Given the description of an element on the screen output the (x, y) to click on. 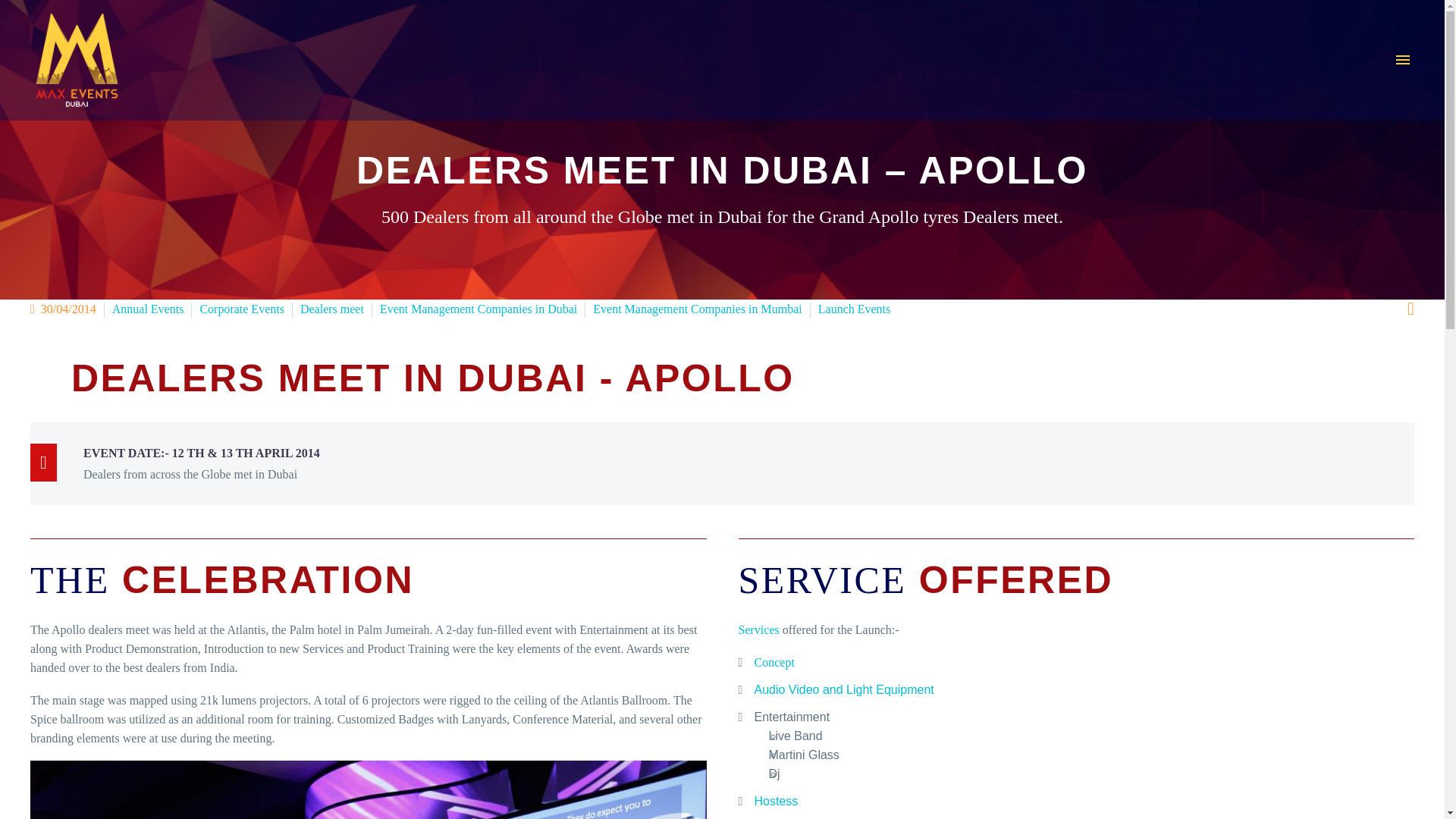
Concept (773, 662)
Audio Video and Light Equipment (843, 689)
Primary Menu (1402, 59)
Services (758, 629)
Hostess (775, 800)
